Given the description of an element on the screen output the (x, y) to click on. 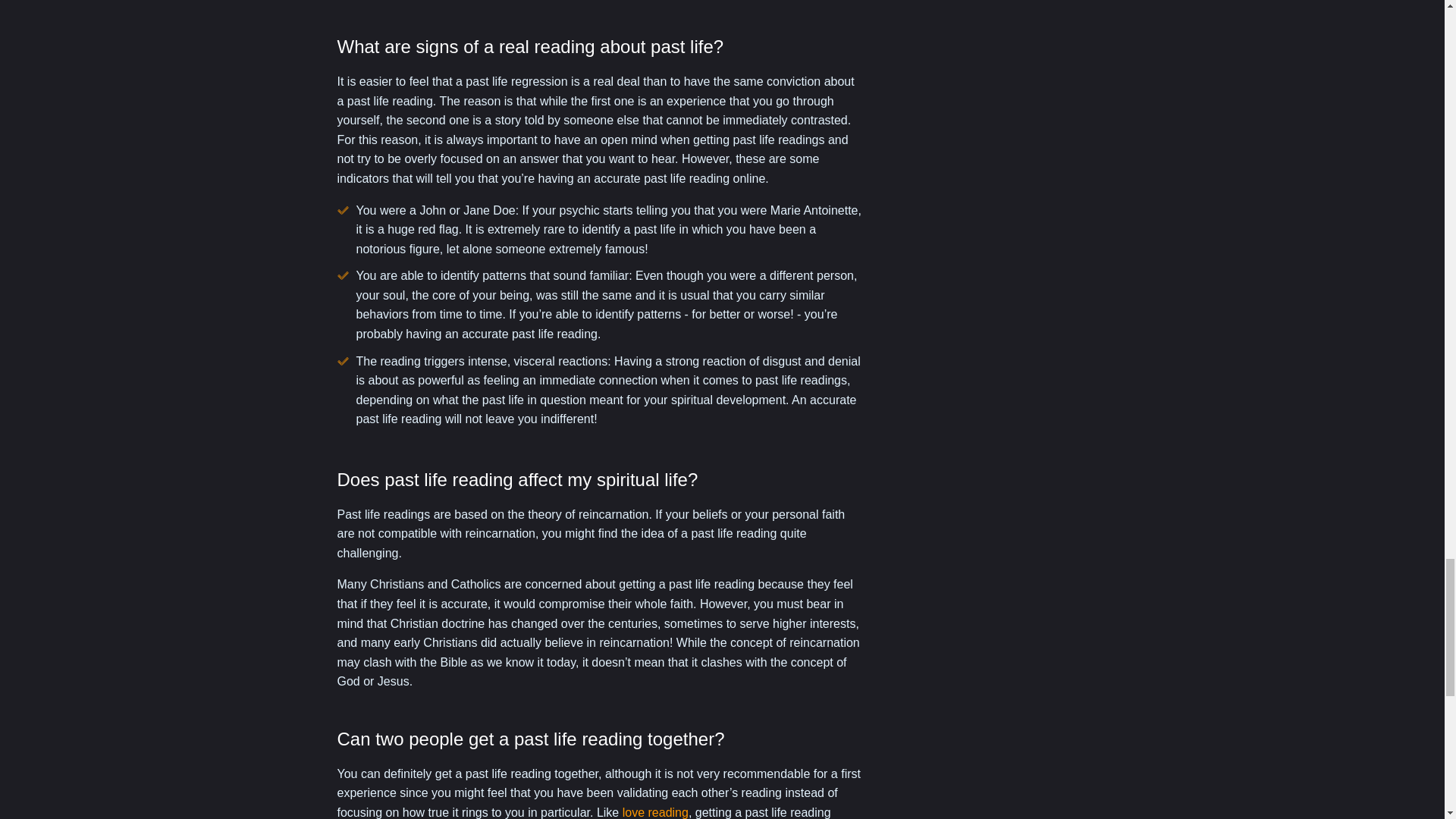
love reading (655, 812)
